Given the description of an element on the screen output the (x, y) to click on. 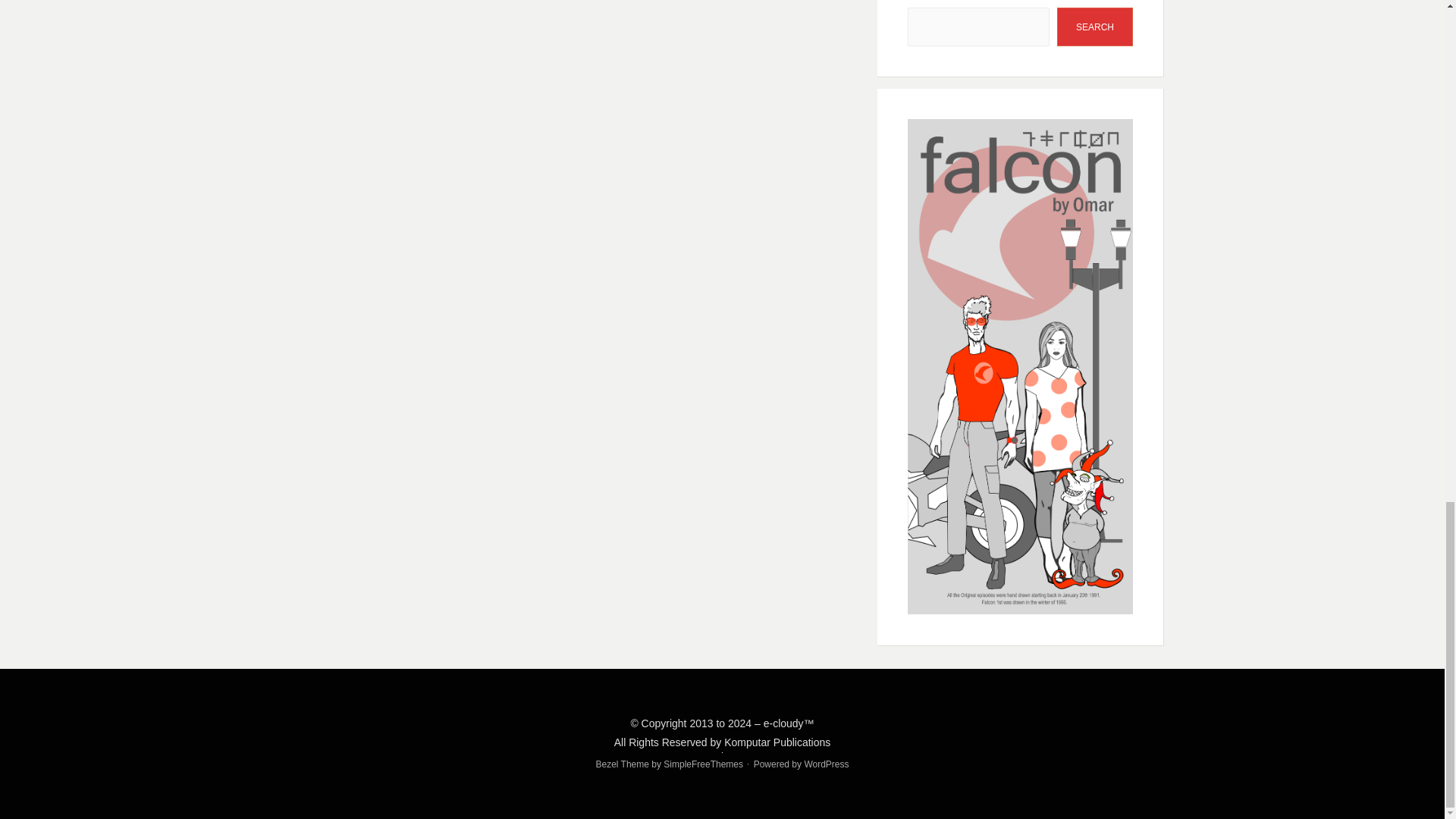
WordPress (825, 764)
SimpleFreeThemes (702, 764)
